Given the description of an element on the screen output the (x, y) to click on. 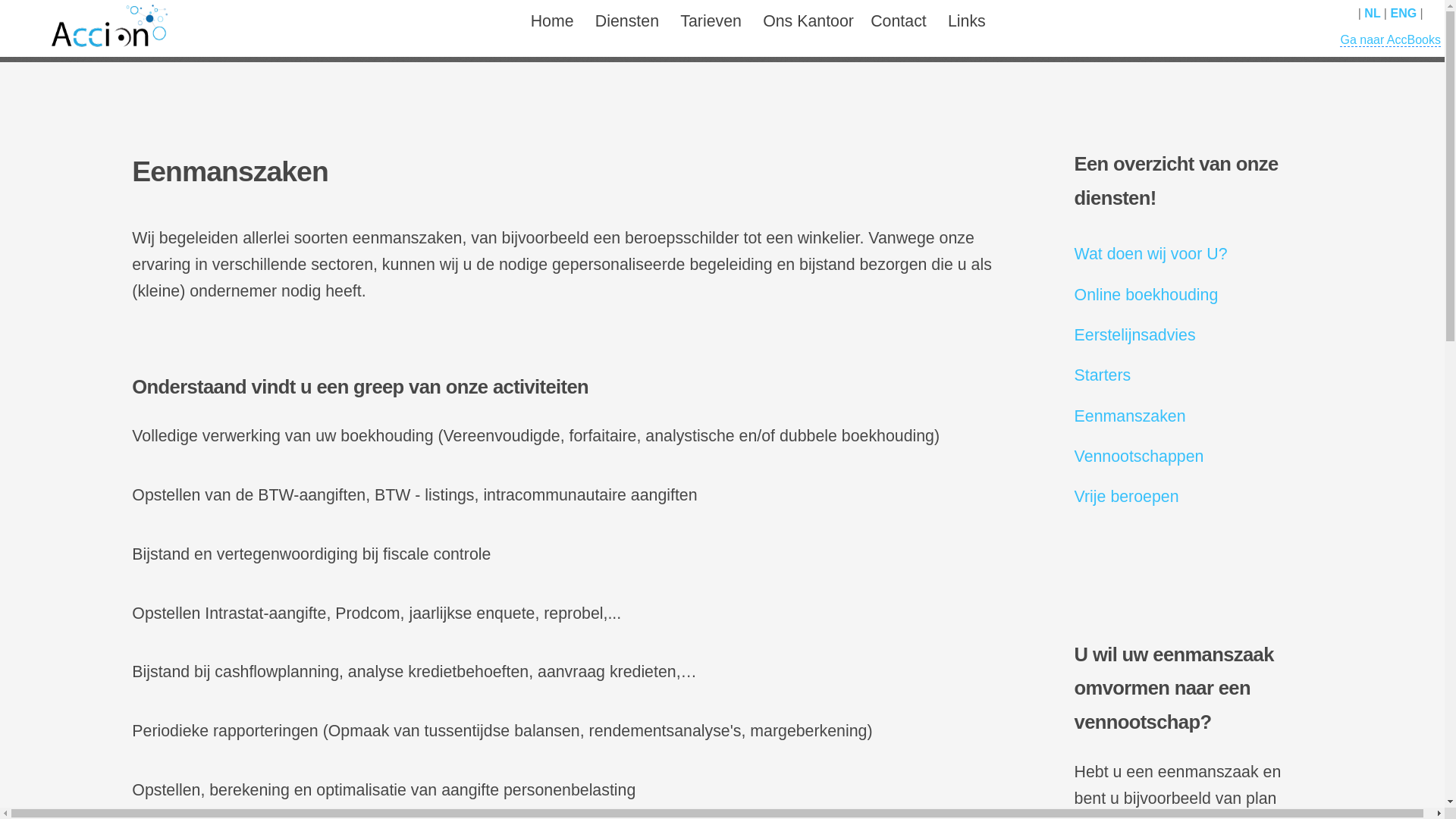
Ga naar AccBooks Element type: text (1389, 40)
Online boekhouding Element type: text (1146, 294)
NL Element type: text (1373, 12)
Eenmanszaken Element type: text (1130, 416)
Contact Element type: text (898, 28)
Vrije beroepen Element type: text (1126, 496)
Ons Kantoor Element type: text (808, 28)
Eerstelijnsadvies Element type: text (1134, 335)
Diensten Element type: text (626, 28)
Tarieven Element type: text (710, 28)
Wat doen wij voor U? Element type: text (1150, 253)
Starters Element type: text (1102, 375)
Links Element type: text (966, 28)
ENG Element type: text (1404, 12)
Vennootschappen Element type: text (1139, 456)
Home Element type: text (551, 28)
